Given the description of an element on the screen output the (x, y) to click on. 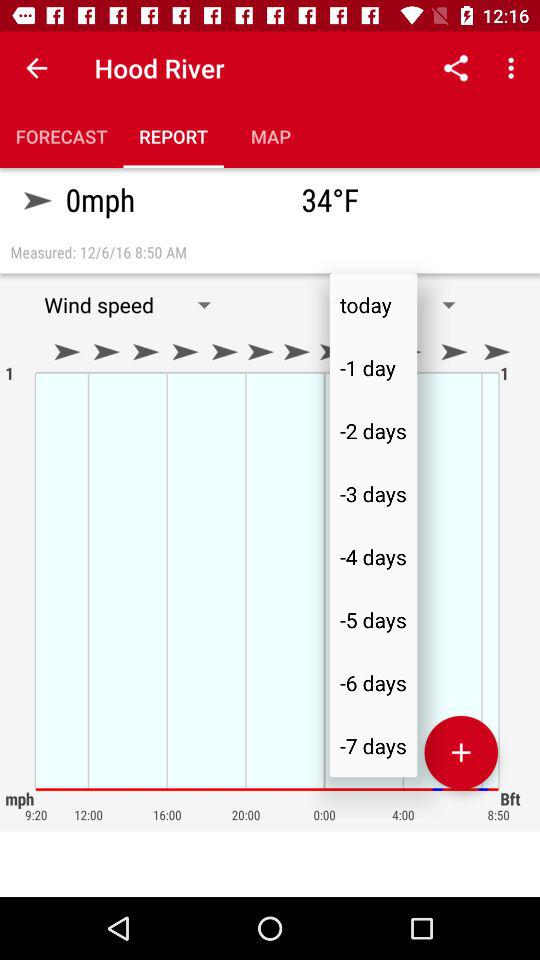
add more (461, 752)
